Given the description of an element on the screen output the (x, y) to click on. 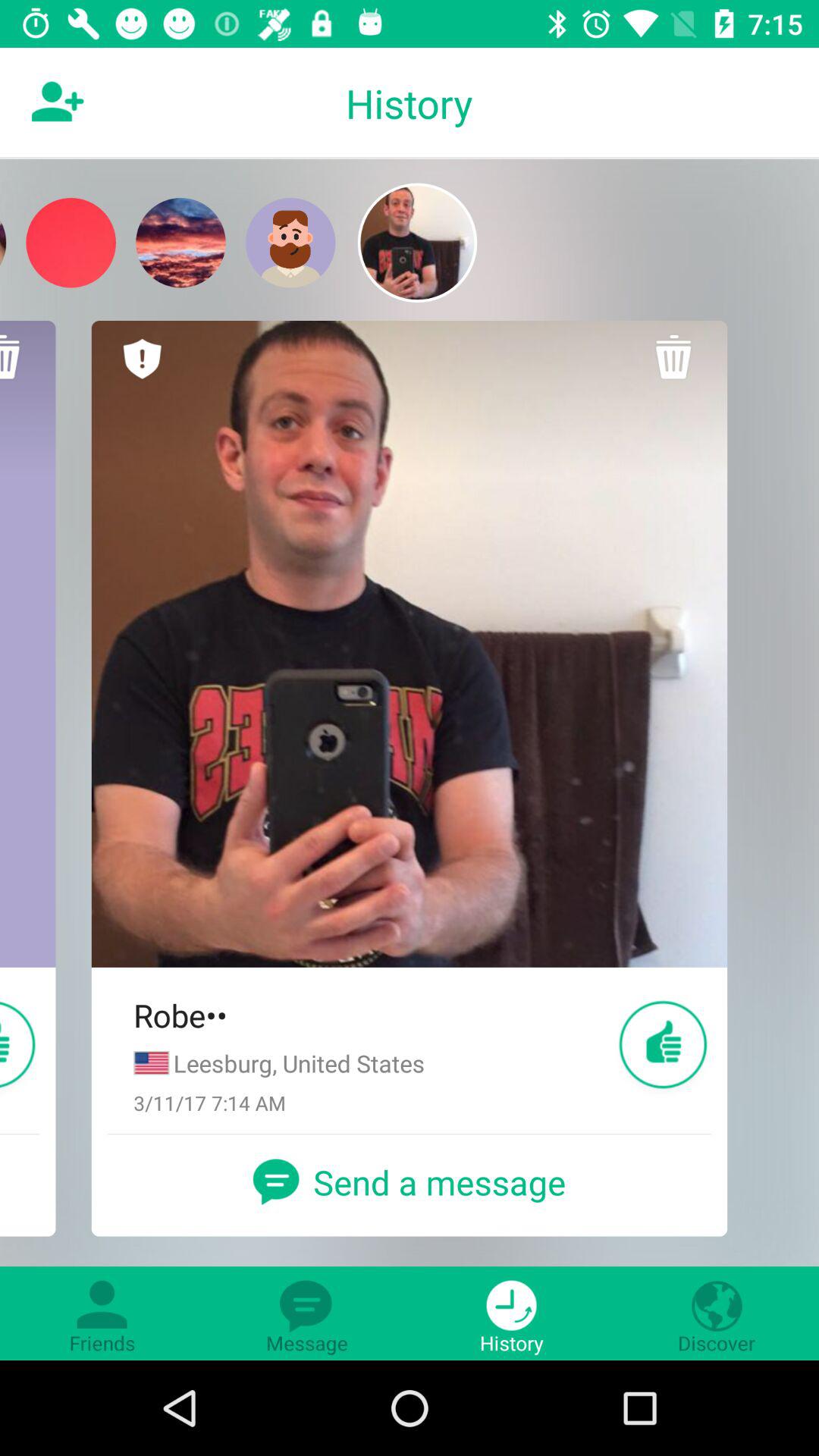
click on second option at bottom (306, 1312)
click on the icon which is beside robe (663, 1044)
select the icon history which is left side of the discover (511, 1312)
photo above robe (409, 644)
